Given the description of an element on the screen output the (x, y) to click on. 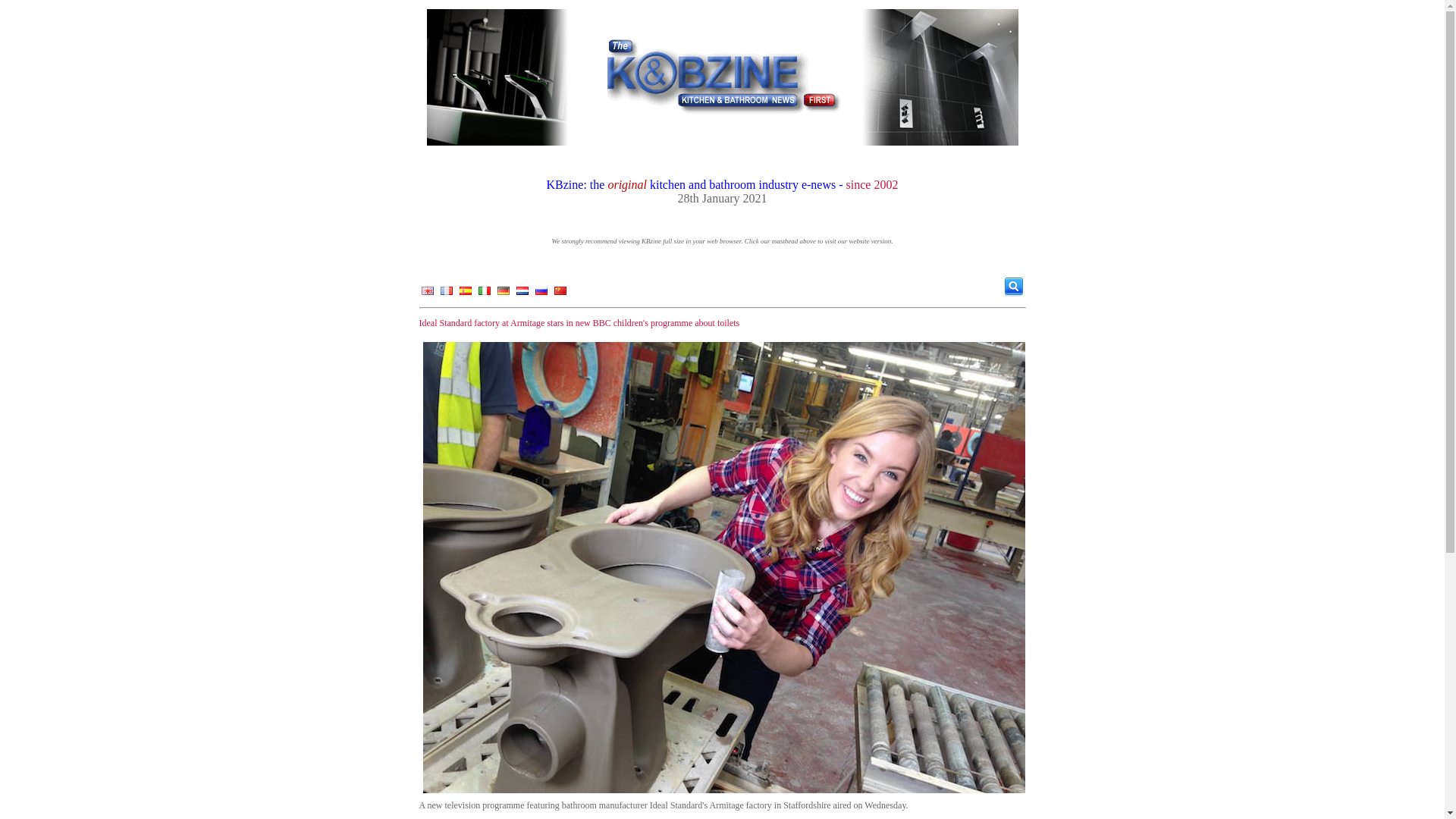
Translate to Italian (484, 294)
Translate to Russian (540, 294)
Translate to English (427, 294)
Translate to Spanish (465, 294)
Translate to French (446, 294)
Translate to Mandarin (560, 294)
Translate to German (503, 294)
Translate to Dutch (522, 294)
